Given the description of an element on the screen output the (x, y) to click on. 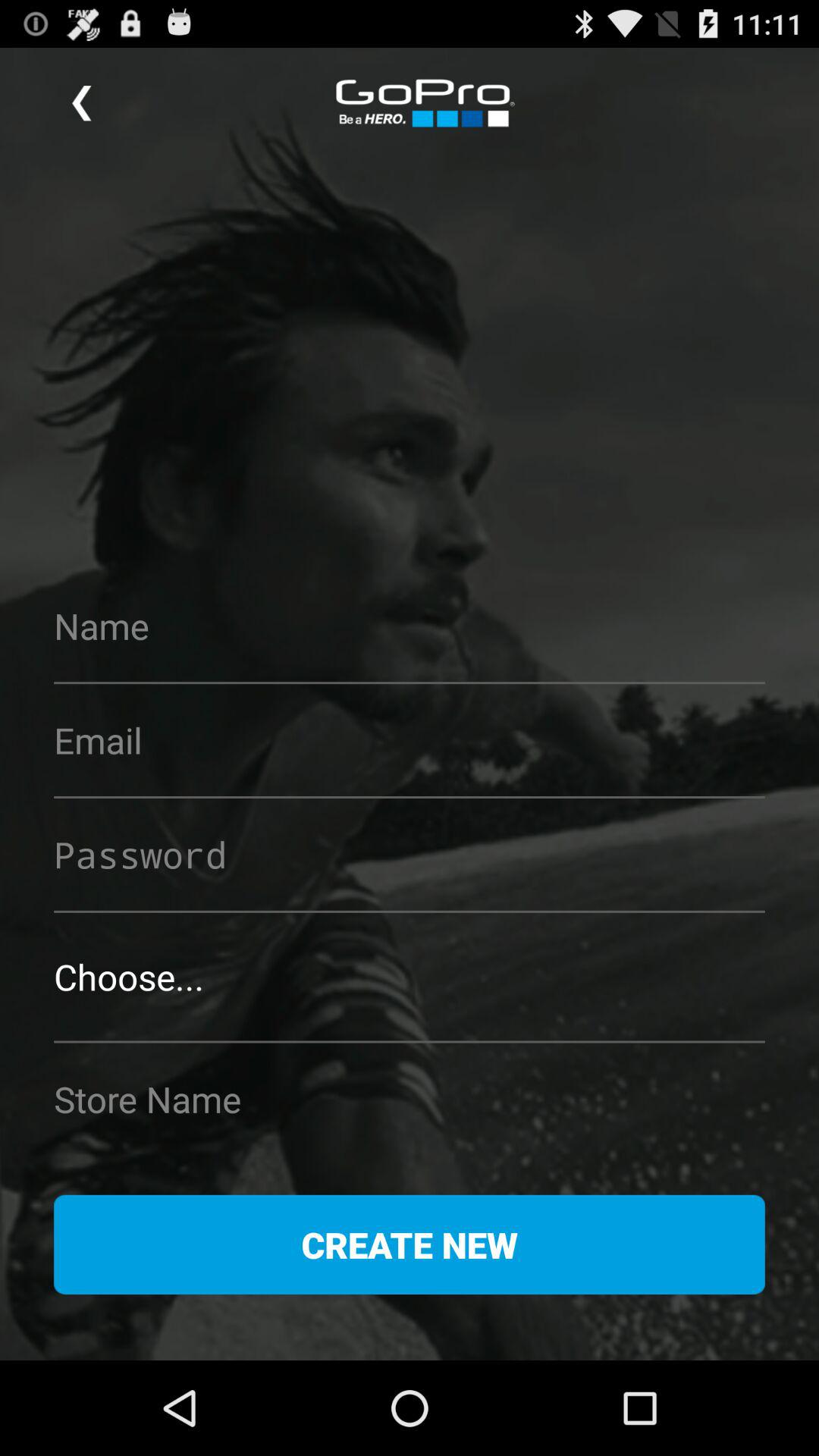
go to previous (81, 102)
